Given the description of an element on the screen output the (x, y) to click on. 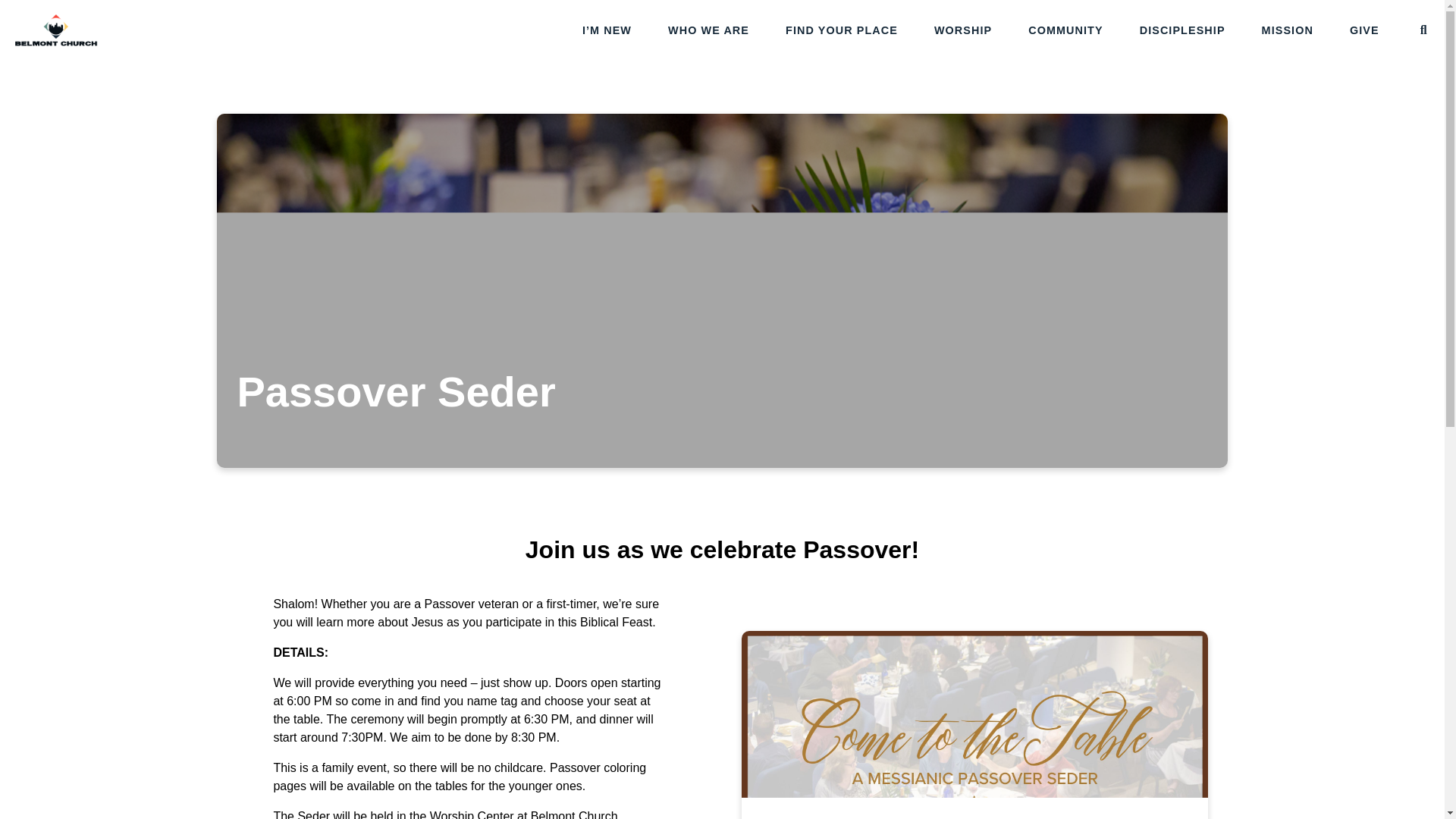
DISCIPLESHIP (1182, 30)
WORSHIP (962, 30)
FIND YOUR PLACE (842, 30)
WHO WE ARE (708, 30)
GIVE (1363, 30)
MISSION (1287, 30)
COMMUNITY (1064, 30)
